Given the description of an element on the screen output the (x, y) to click on. 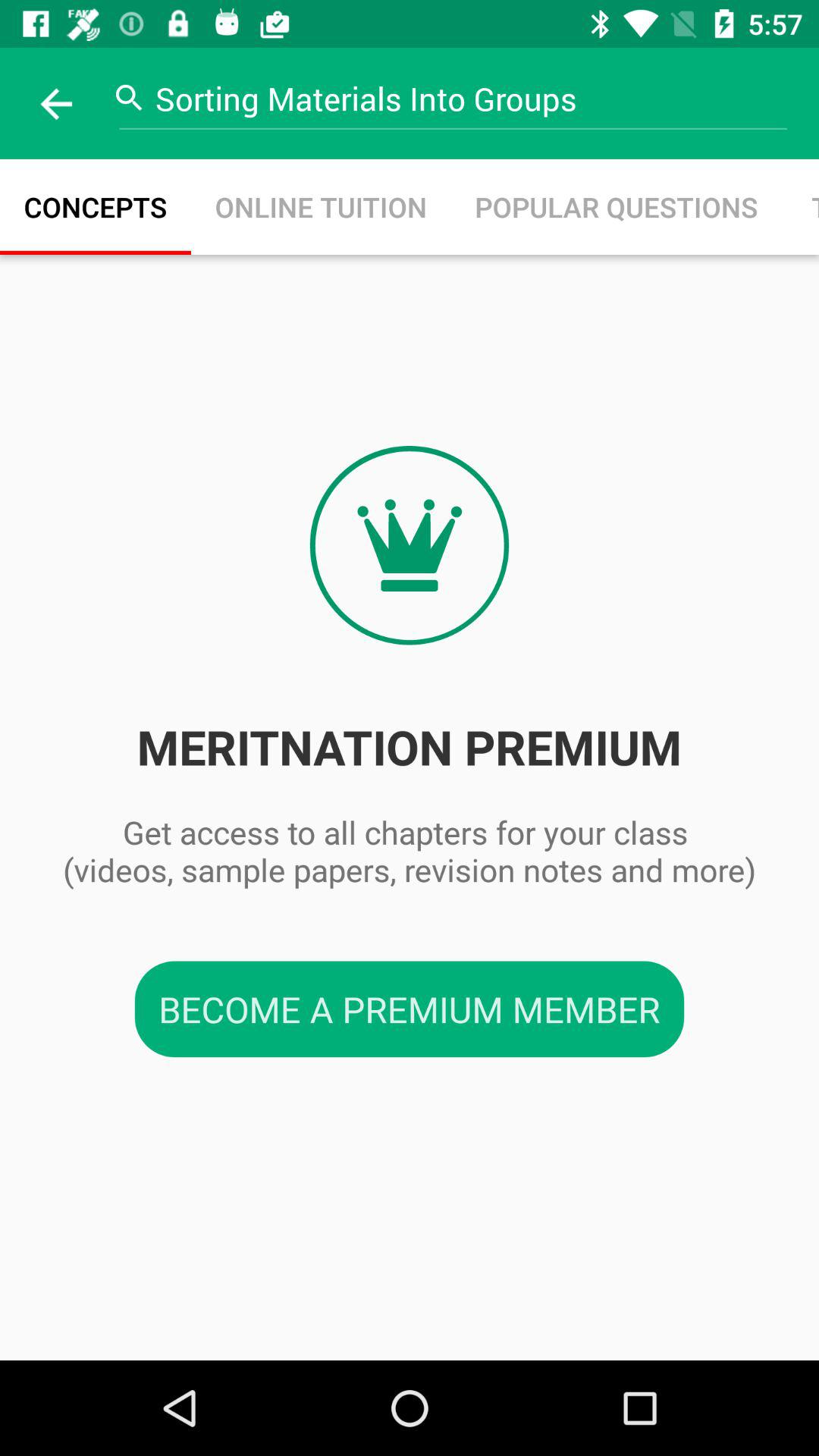
turn on the item next to sorting materials into icon (55, 103)
